Given the description of an element on the screen output the (x, y) to click on. 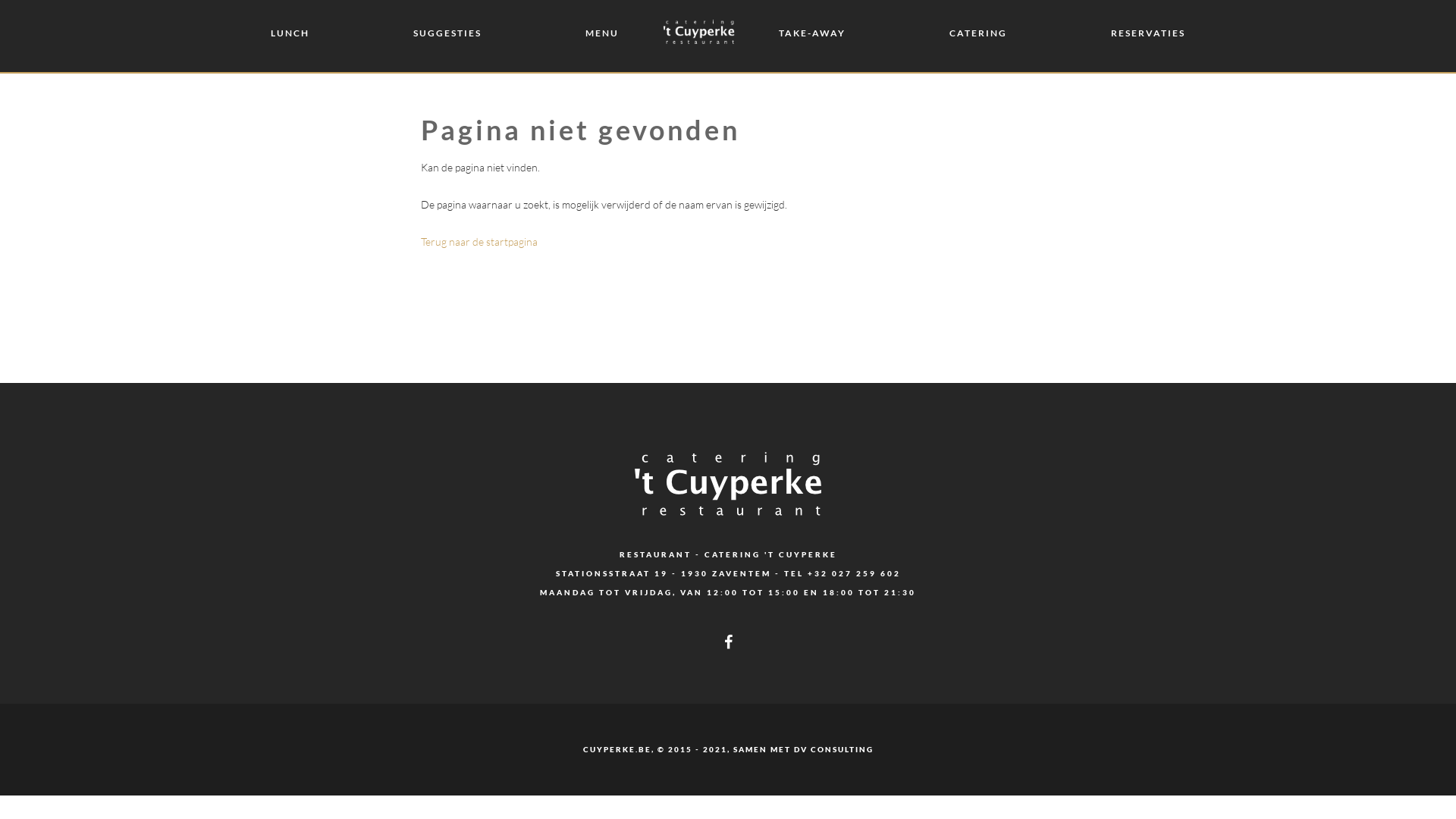
LUNCH Element type: text (289, 36)
TAKE-AWAY Element type: text (811, 36)
DV CONSULTING Element type: text (832, 748)
Terug naar de startpagina Element type: text (478, 241)
CATERING Element type: text (978, 36)
SUGGESTIES Element type: text (447, 36)
RESERVATIES Element type: text (1147, 36)
+32 027 259 602 Element type: text (853, 572)
MENU Element type: text (601, 36)
